Given the description of an element on the screen output the (x, y) to click on. 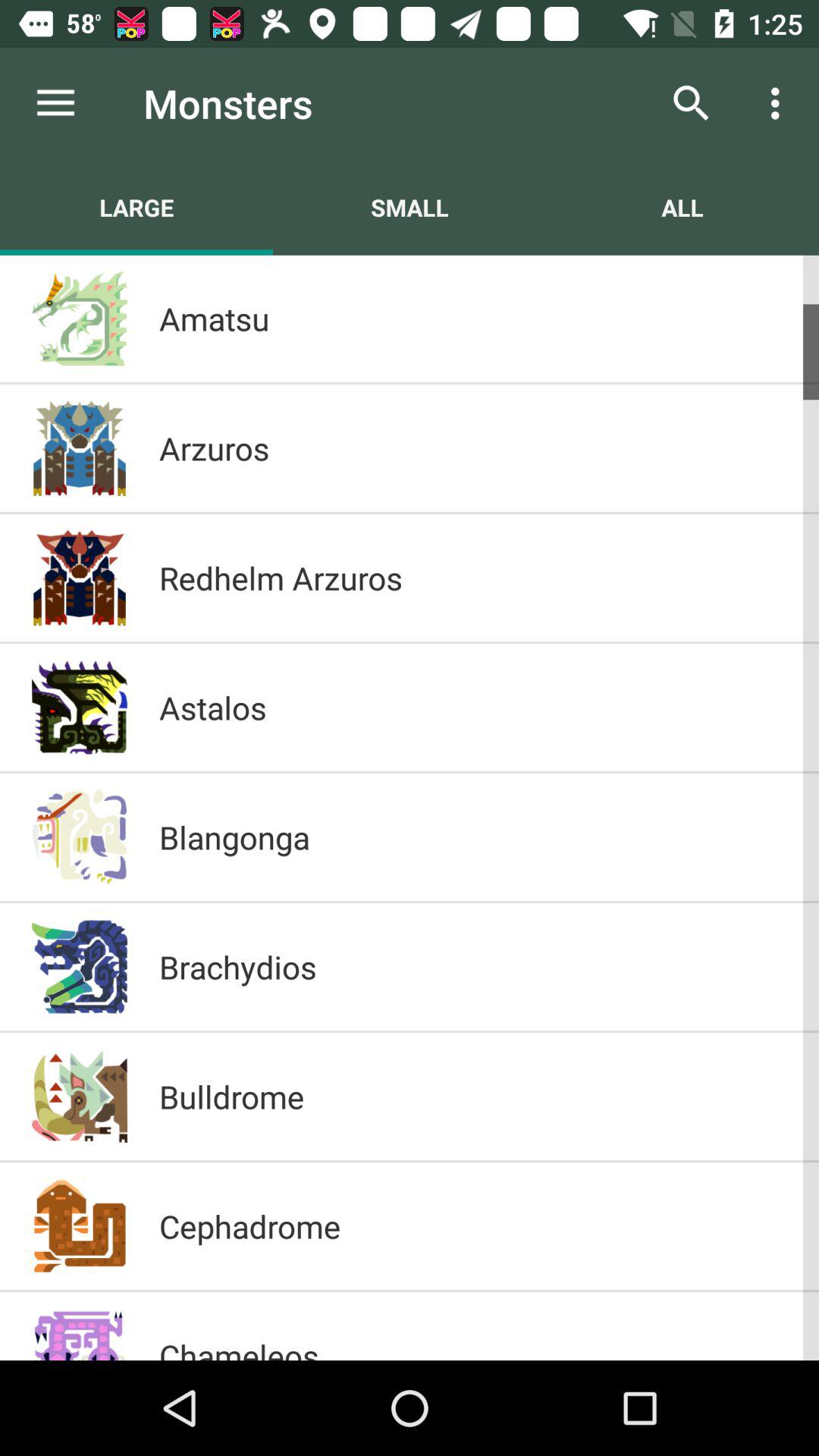
tap app above the all item (691, 103)
